Given the description of an element on the screen output the (x, y) to click on. 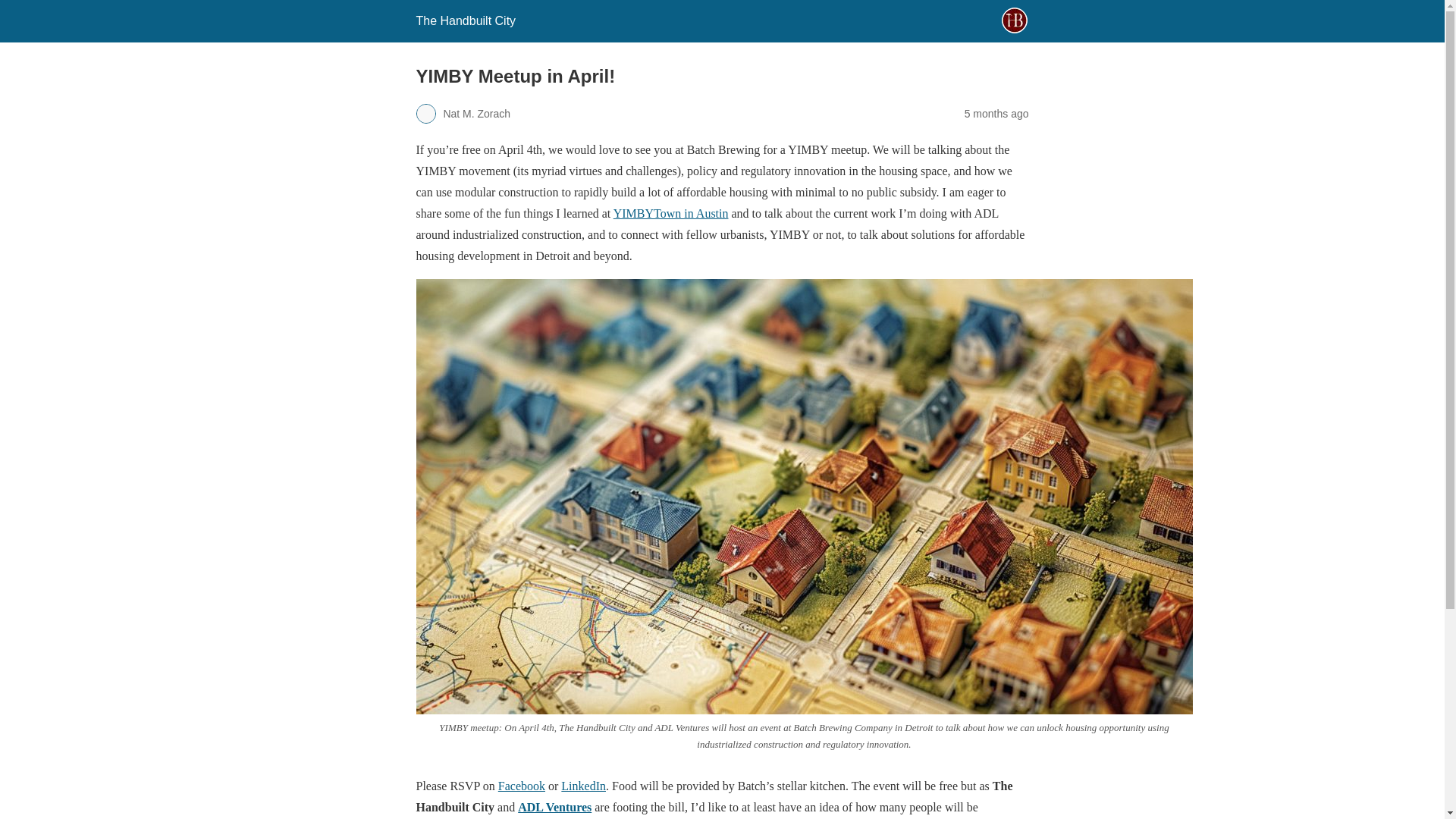
ADL Ventures (554, 807)
LinkedIn (582, 785)
The Handbuilt City (464, 20)
Facebook (520, 785)
YIMBYTown in Austin (670, 213)
